Given the description of an element on the screen output the (x, y) to click on. 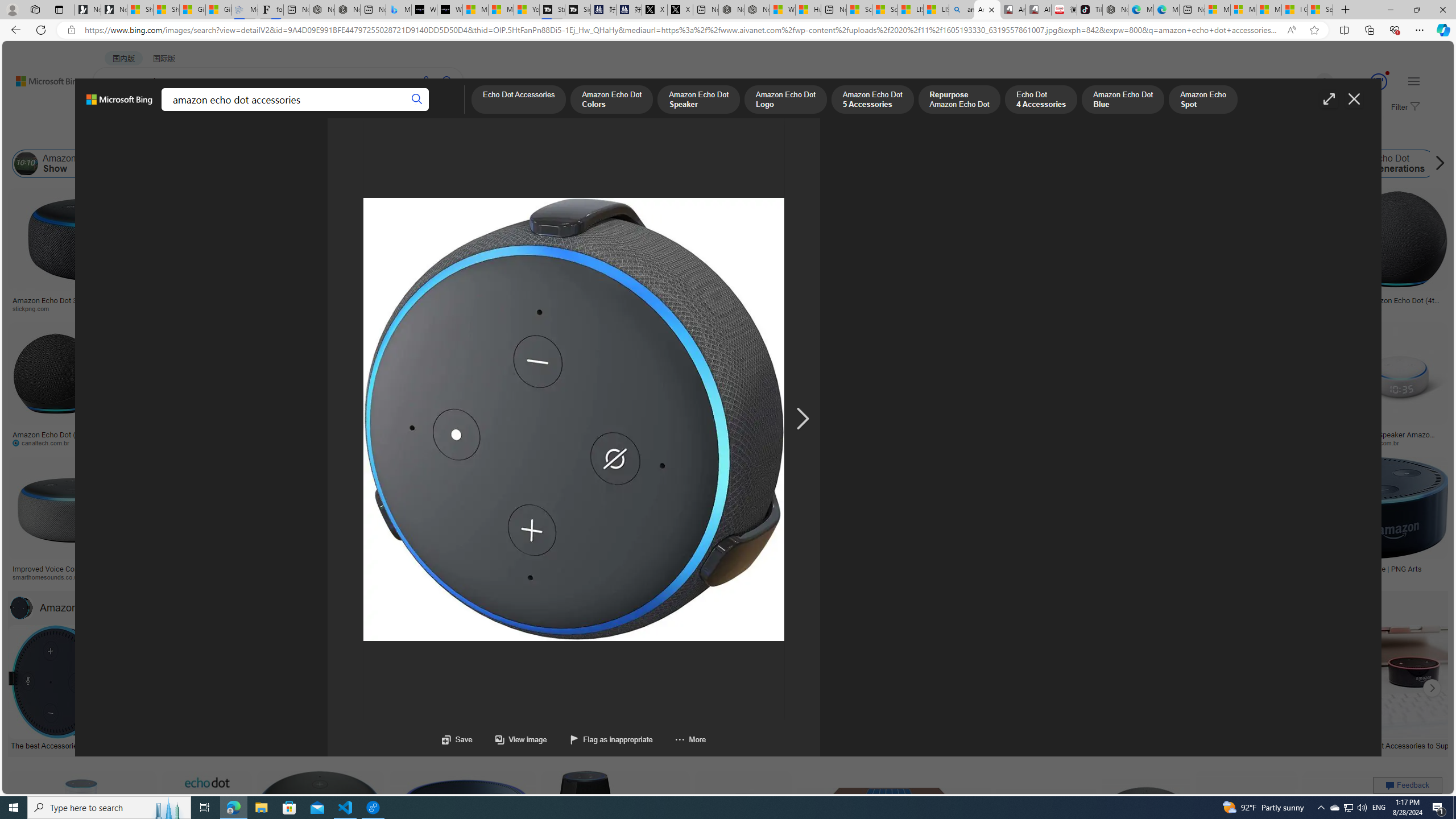
Amazon Echo Plus (1062, 163)
Close image (1352, 99)
Amazonecho Dot With Alexa (Gen 4) (1190, 568)
Date (336, 135)
AutomationID: navr (801, 418)
Microsoft Rewards 147 (1364, 81)
Echo Dot Generations (1388, 163)
